Given the description of an element on the screen output the (x, y) to click on. 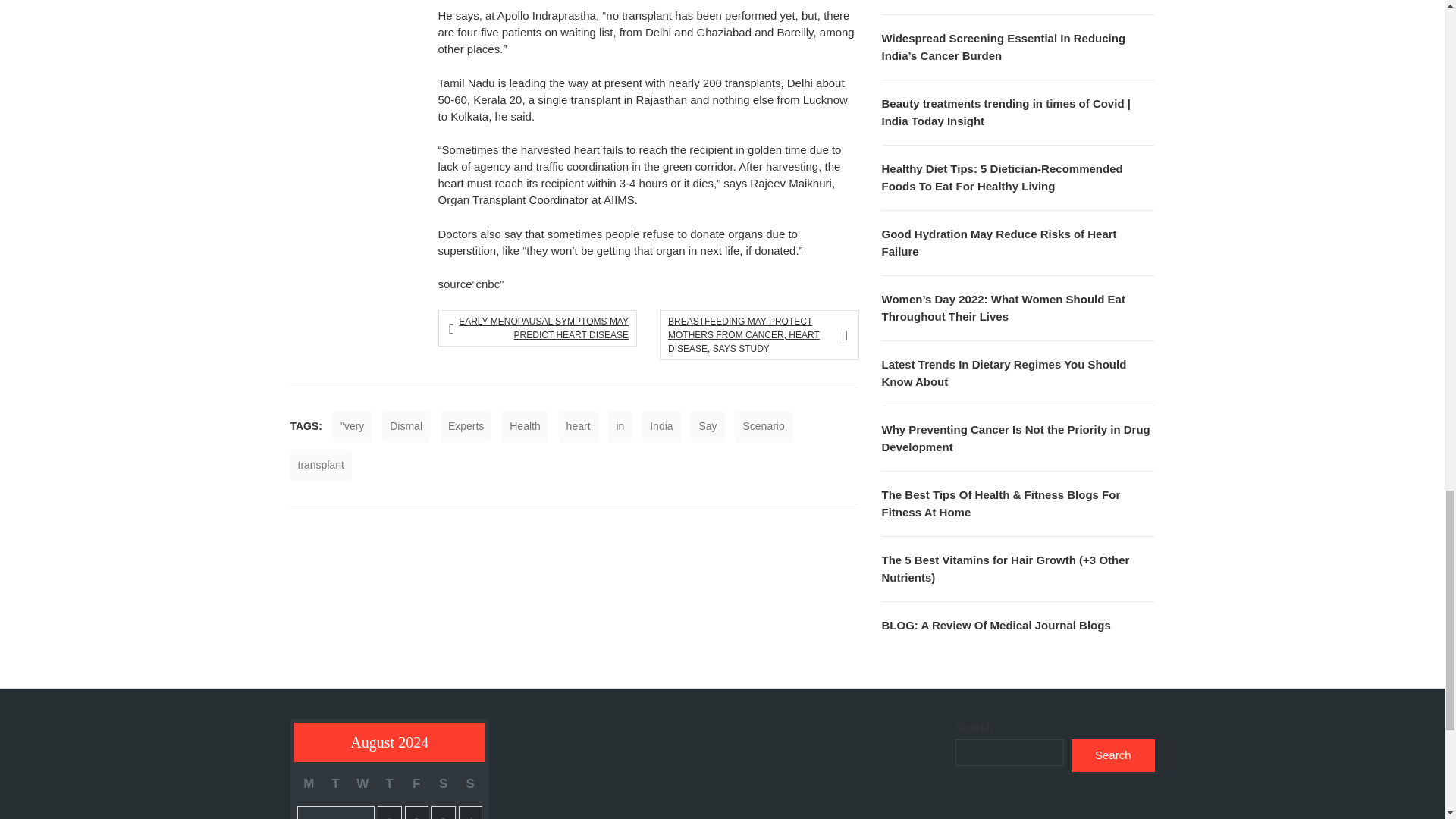
India (660, 426)
Experts (466, 426)
Dismal (405, 426)
Health (524, 426)
Scenario (763, 426)
transplant (319, 464)
Say (706, 426)
EARLY MENOPAUSAL SYMPTOMS MAY PREDICT HEART DISEASE (541, 328)
heart (578, 426)
